Given the description of an element on the screen output the (x, y) to click on. 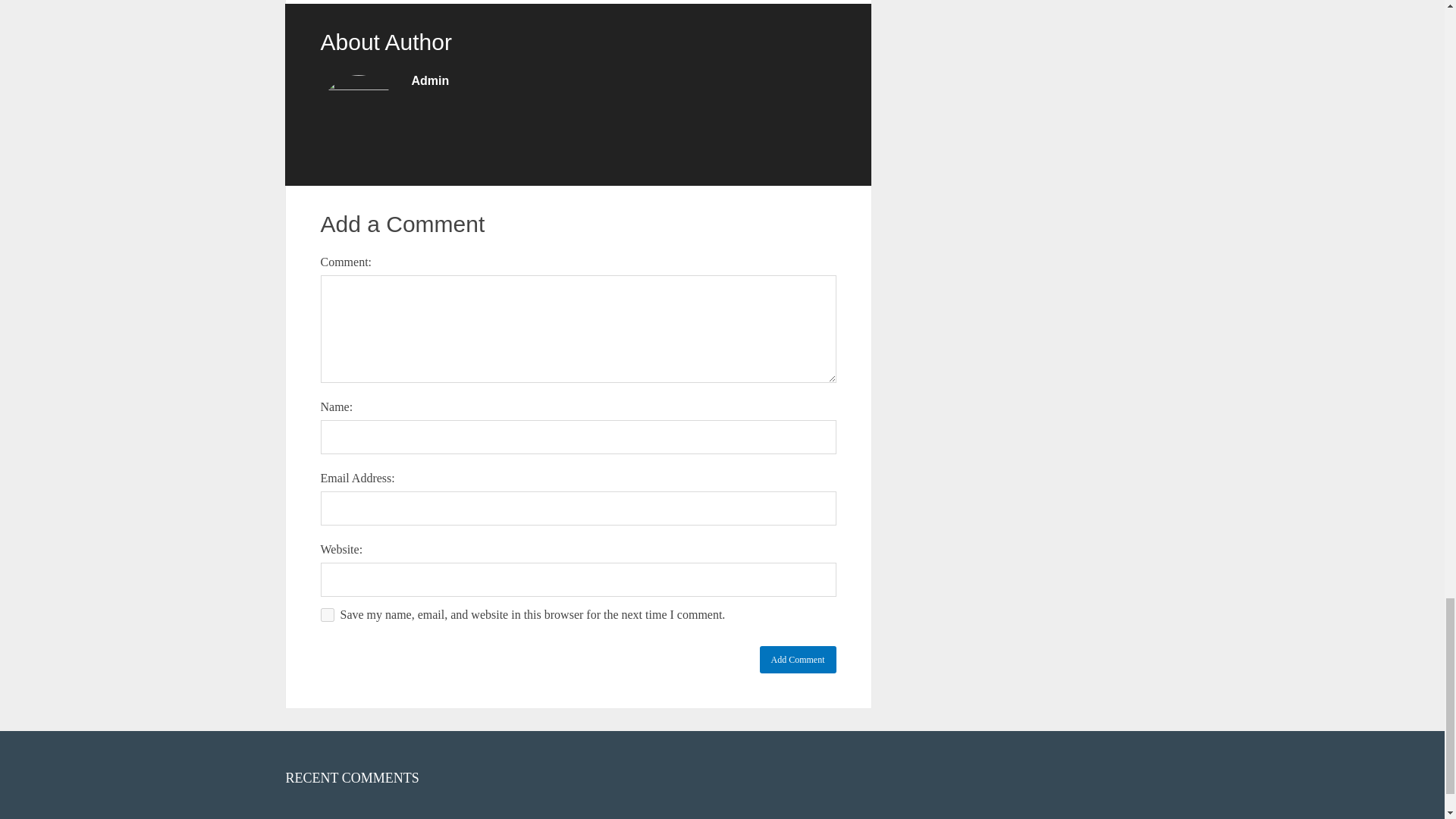
Add Comment (797, 659)
yes (326, 614)
Add Comment (797, 659)
